Given the description of an element on the screen output the (x, y) to click on. 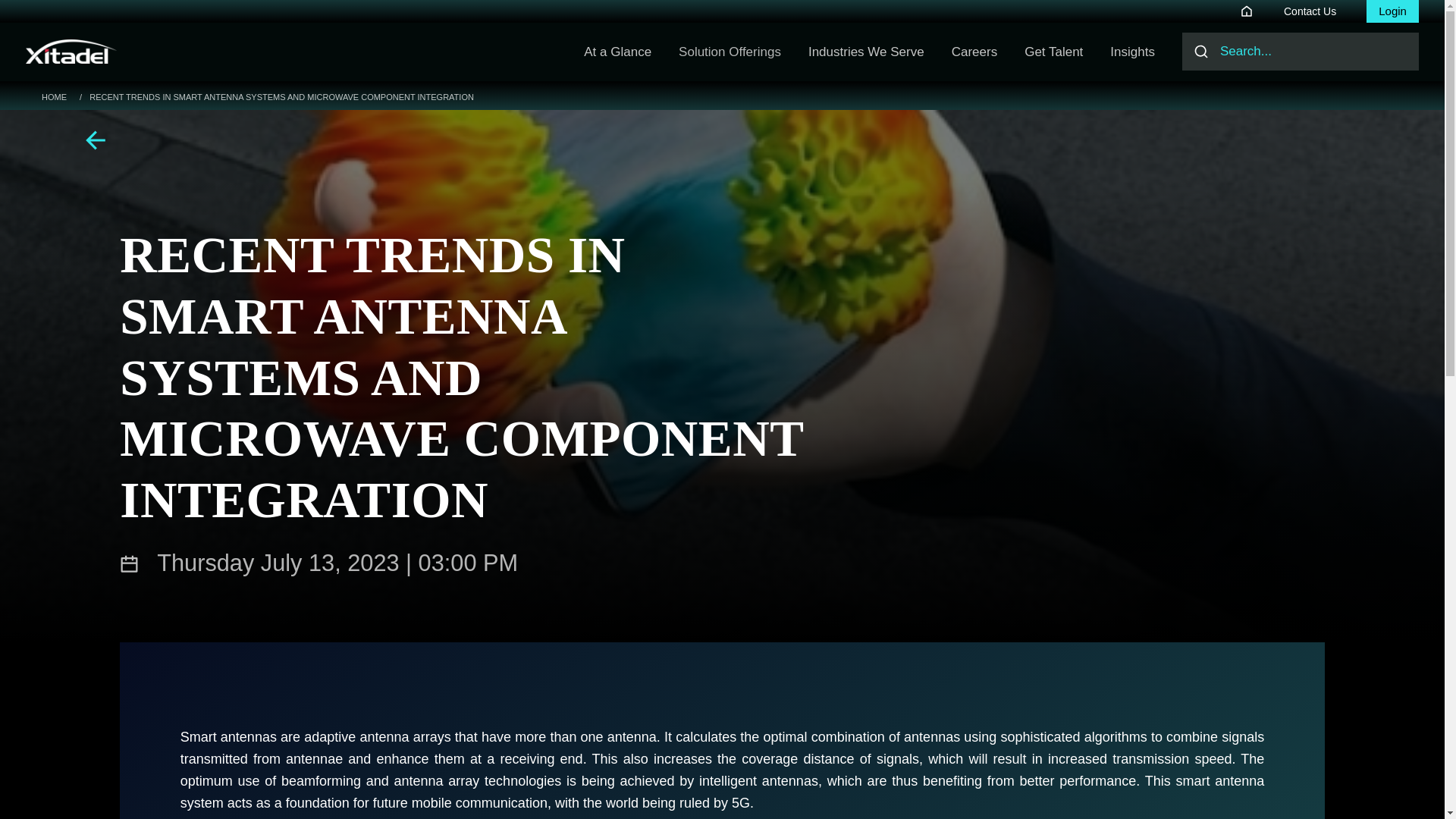
Solution Offerings (729, 51)
Contact Us (1310, 11)
At a Glance (617, 51)
Login (1392, 11)
